Given the description of an element on the screen output the (x, y) to click on. 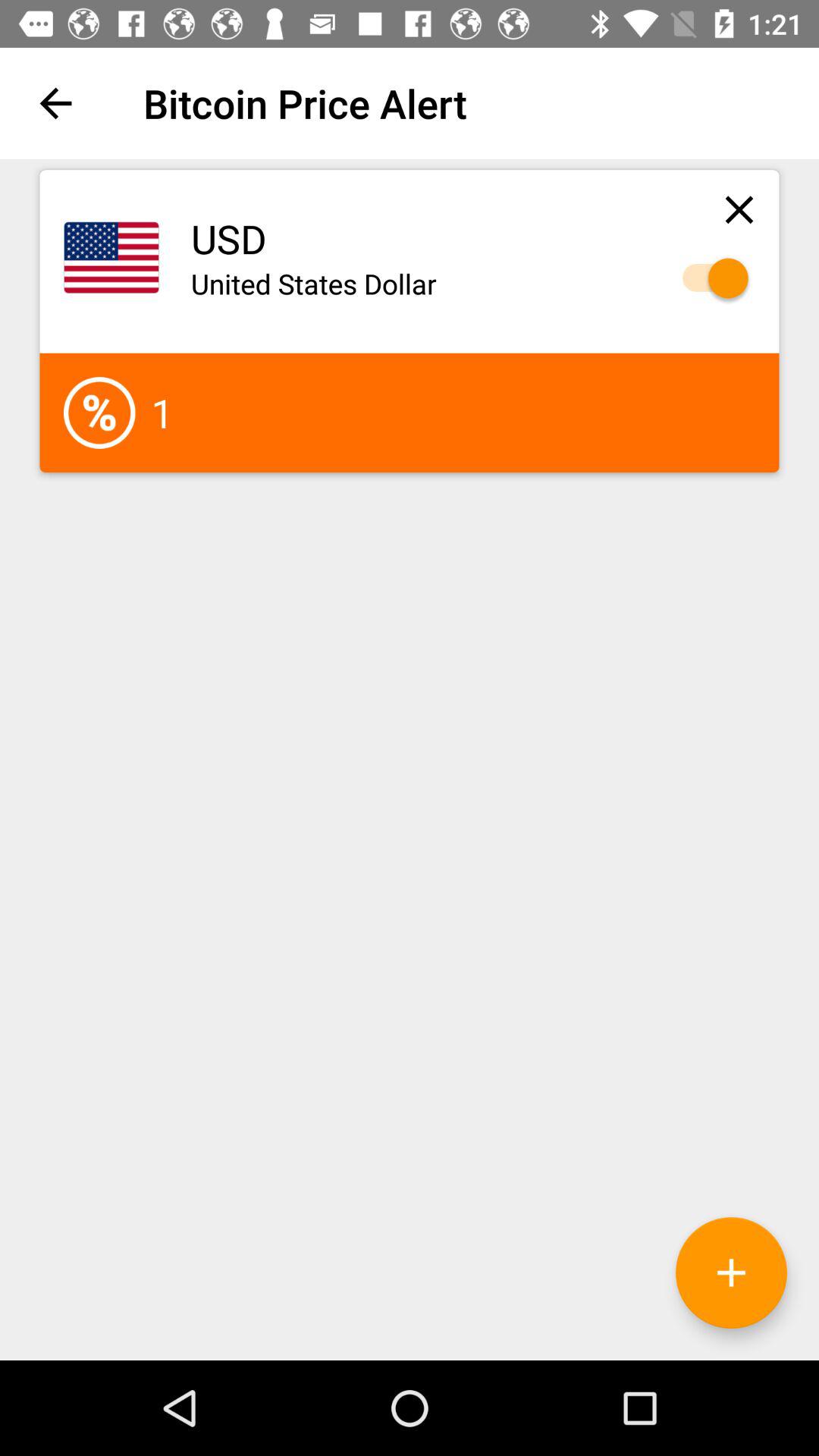
toggle alert (707, 278)
